Given the description of an element on the screen output the (x, y) to click on. 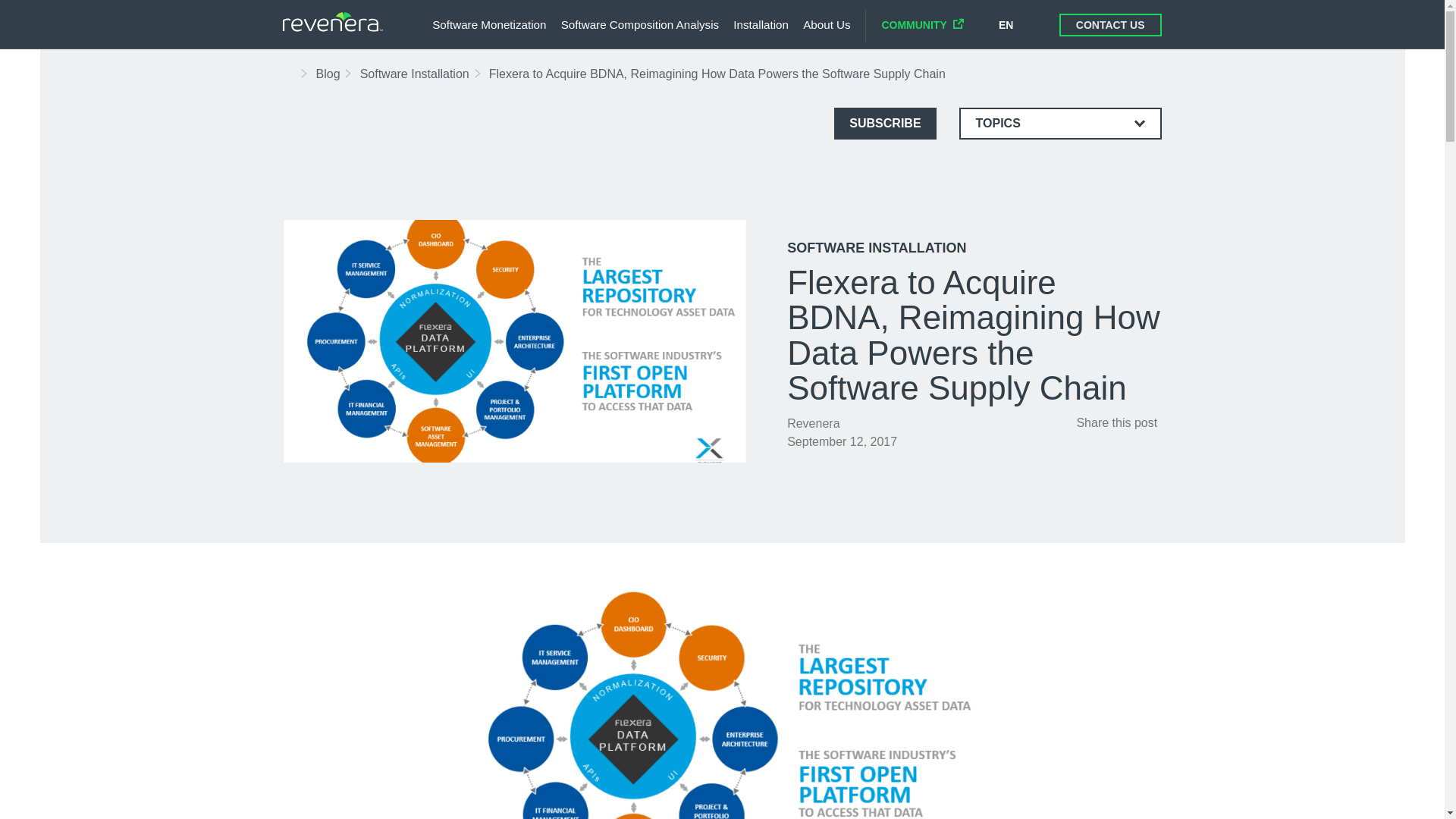
Software Composition Analysis (639, 24)
Software Monetization (489, 24)
Flexera Home (290, 73)
